Given the description of an element on the screen output the (x, y) to click on. 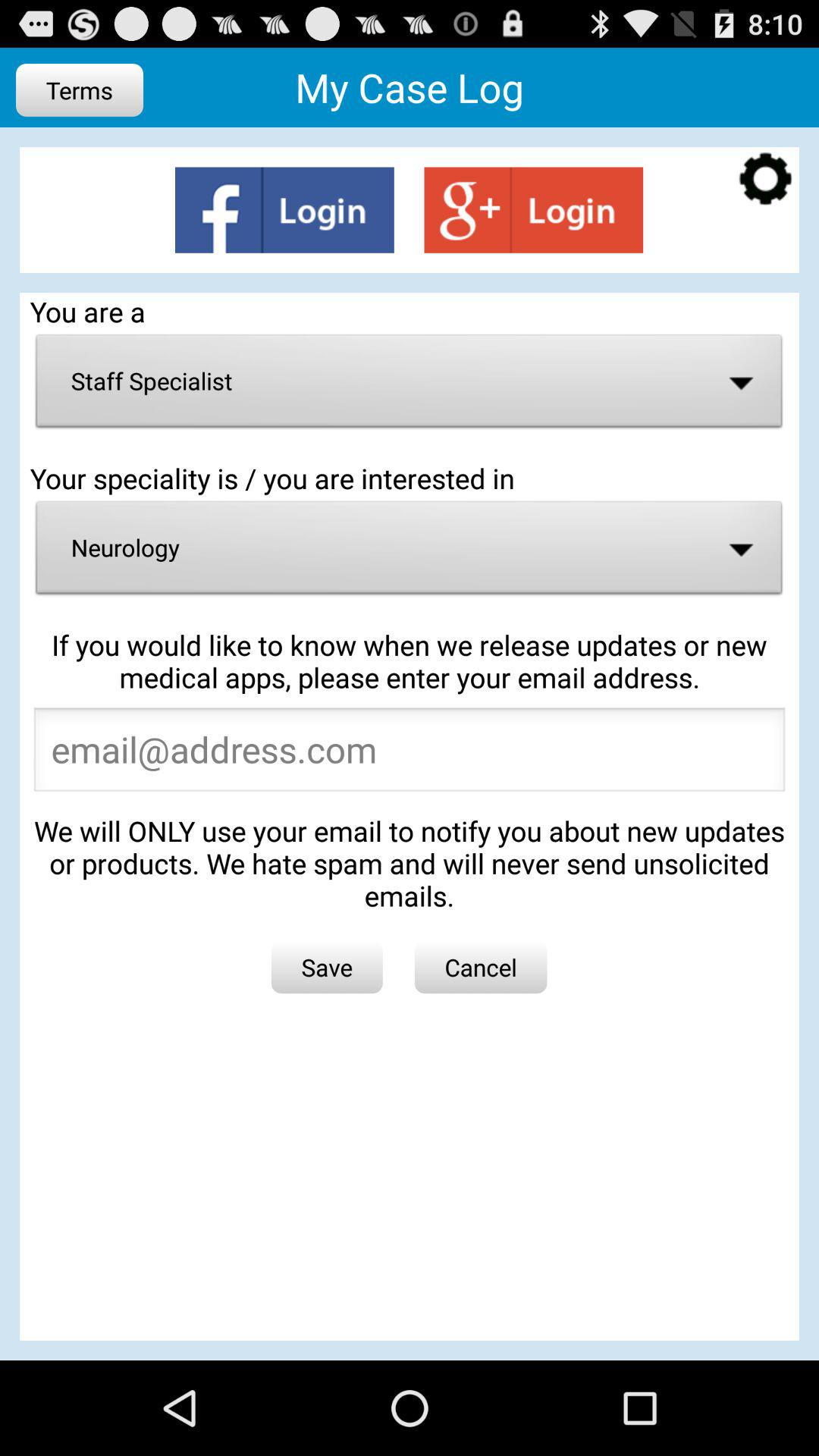
facebook (284, 210)
